Given the description of an element on the screen output the (x, y) to click on. 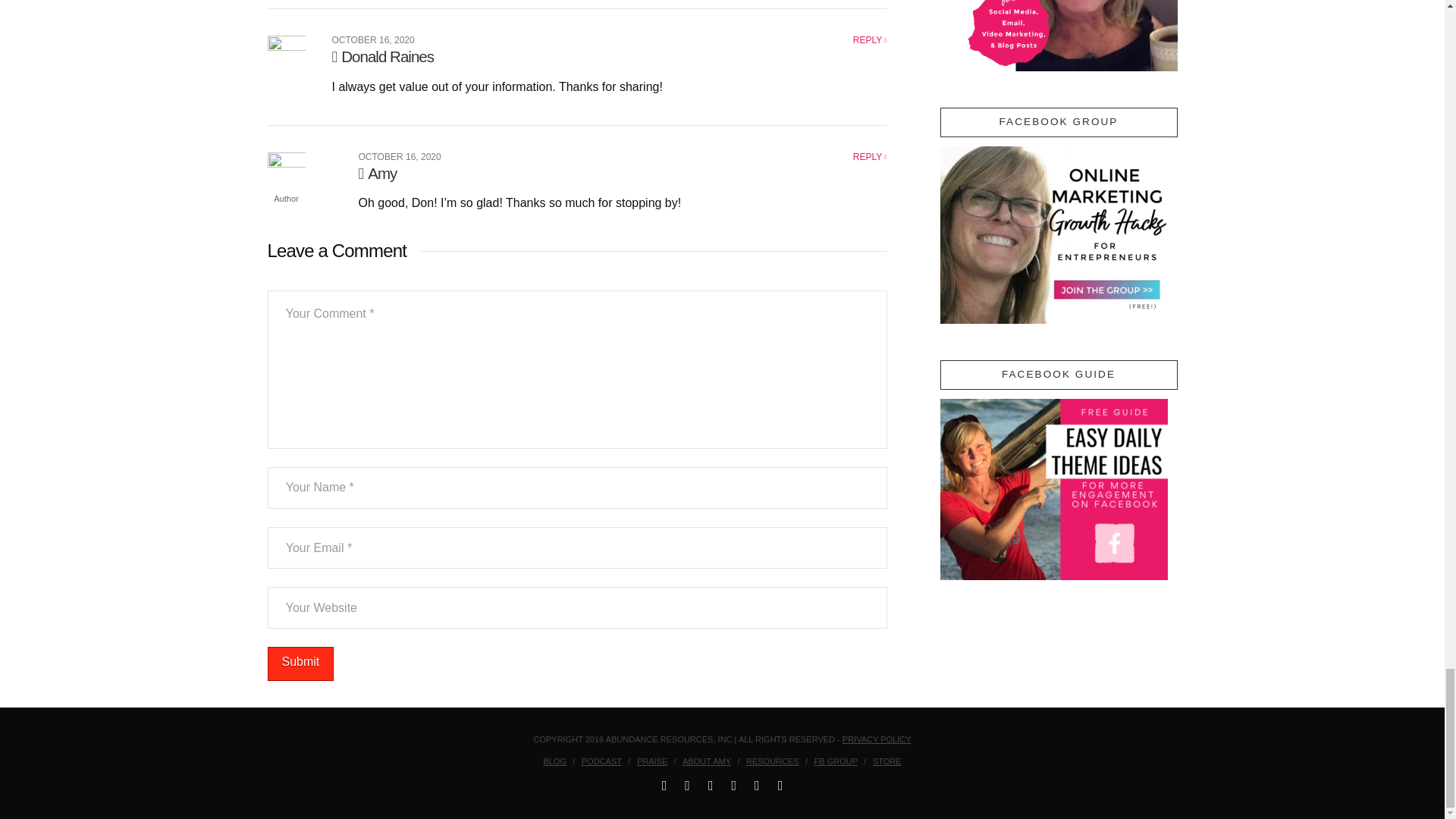
80 CONTENT IDEAS (1058, 35)
FACEBOOK GUIDE (1053, 488)
FACEBOOK GROUP (1053, 234)
Submit (299, 663)
